Given the description of an element on the screen output the (x, y) to click on. 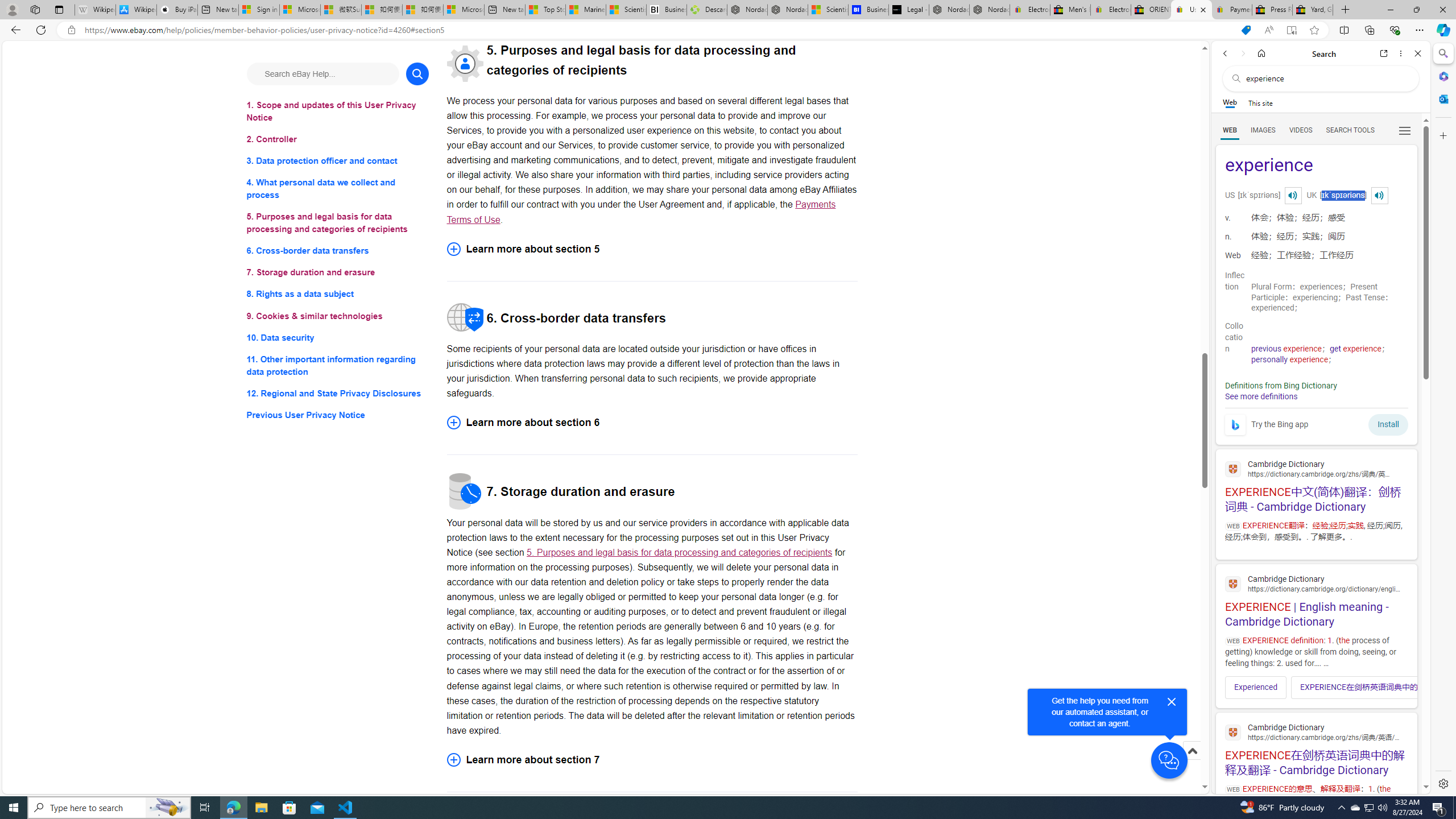
previous experience (1286, 348)
Forward (1242, 53)
WEB   (1230, 130)
3. Data protection officer and contact (337, 160)
Try the Bing app Install (1315, 421)
Buy iPad - Apple (176, 9)
